Given the description of an element on the screen output the (x, y) to click on. 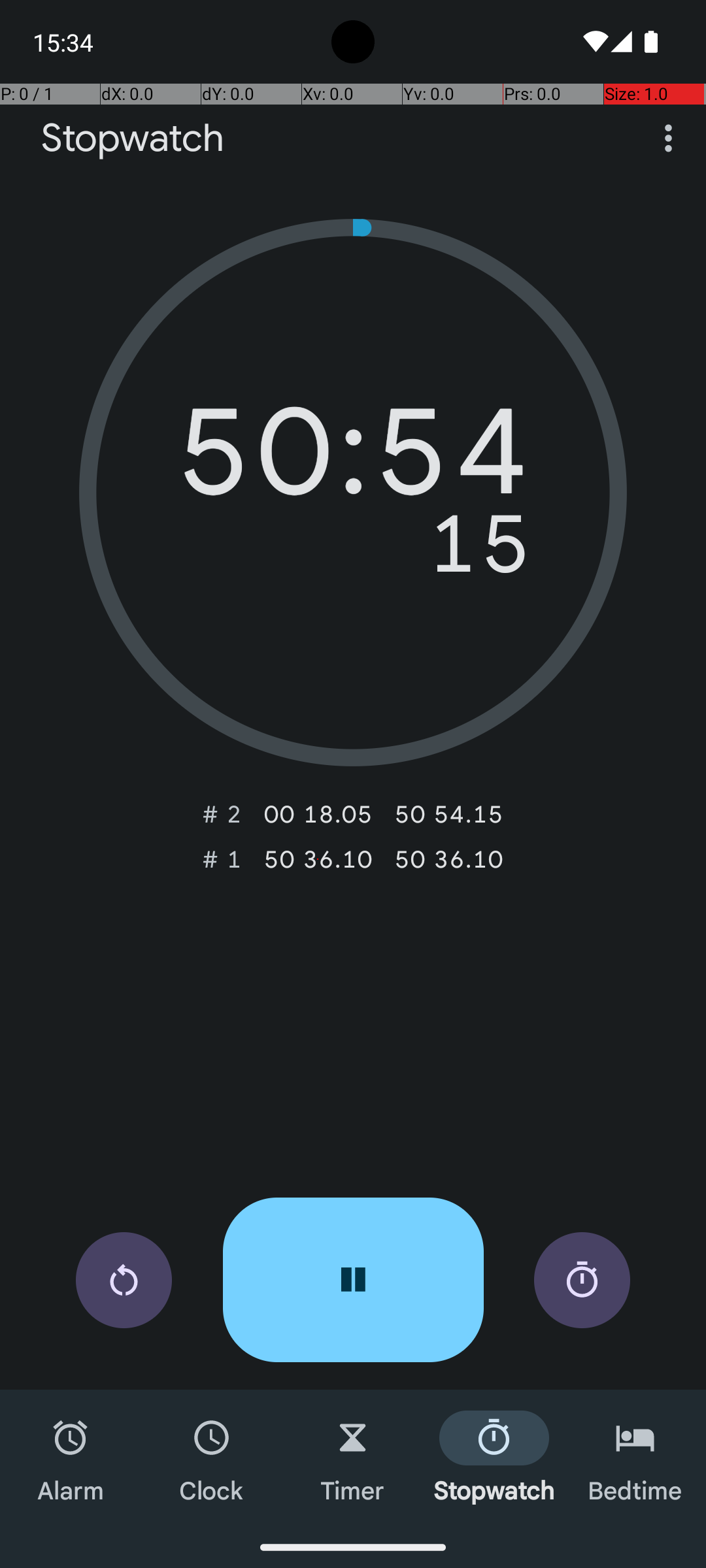
Lap Element type: android.widget.ImageButton (582, 1280)
50:54 Element type: android.widget.TextView (352, 460)
# 2 Element type: android.widget.TextView (221, 814)
00‎ 18.02 Element type: android.widget.TextView (317, 814)
50‎ 54.12 Element type: android.widget.TextView (448, 814)
# 1 Element type: android.widget.TextView (221, 859)
50‎ 36.10 Element type: android.widget.TextView (317, 859)
Wifi signal full. Element type: android.widget.FrameLayout (593, 41)
